Given the description of an element on the screen output the (x, y) to click on. 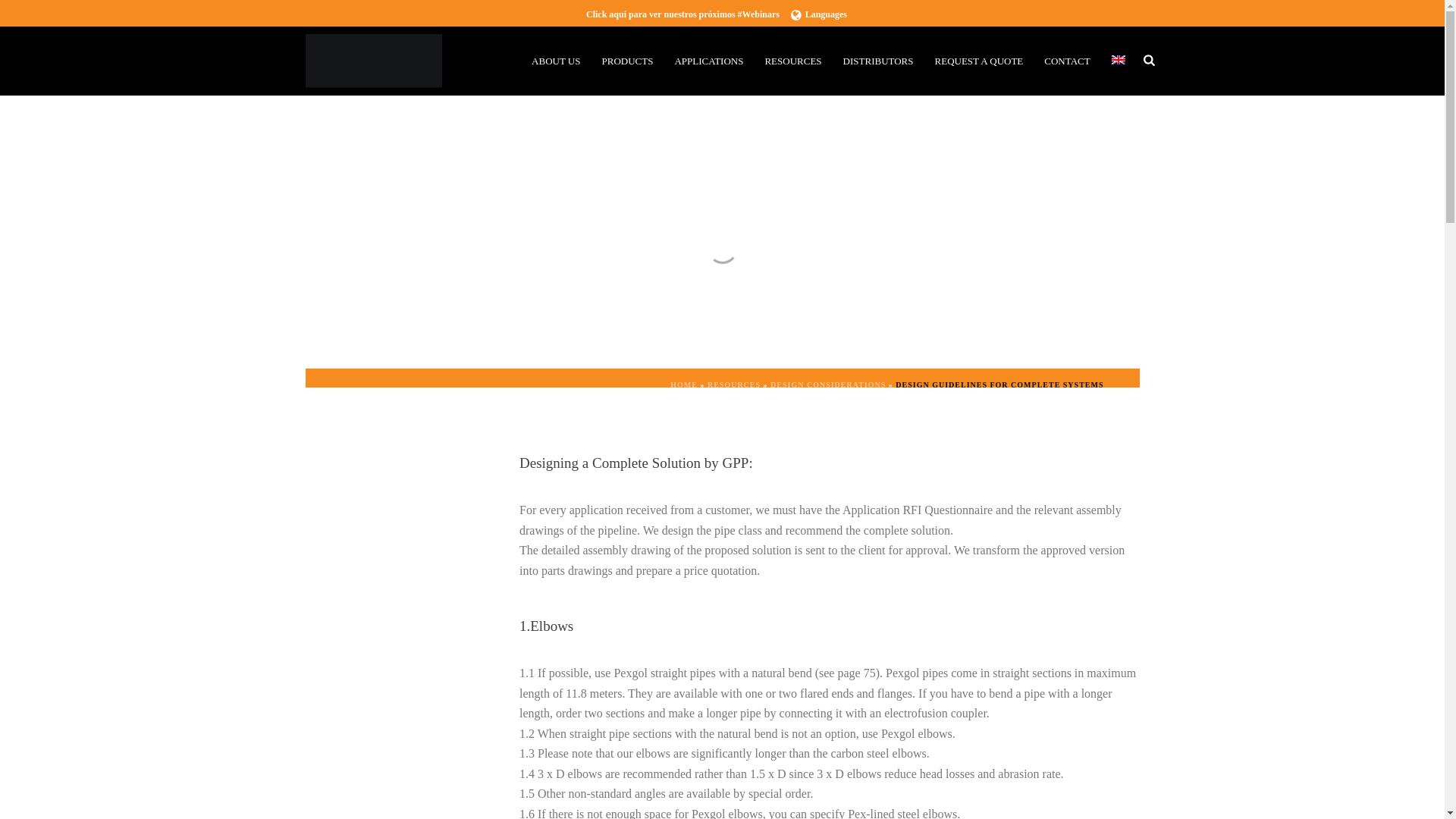
APPLICATIONS (708, 61)
RESOURCES (792, 61)
Languages (818, 14)
ABOUT US (556, 61)
REQUEST A QUOTE (978, 61)
PRODUCTS (627, 61)
RESOURCES (792, 61)
APPLICATIONS (708, 61)
PRODUCTS (627, 61)
Cross-Linked Piping Solutions (372, 60)
DISTRIBUTORS (878, 61)
REQUEST A QUOTE (978, 61)
CONTACT (1066, 61)
CONTACT (1066, 61)
DISTRIBUTORS (878, 61)
